Given the description of an element on the screen output the (x, y) to click on. 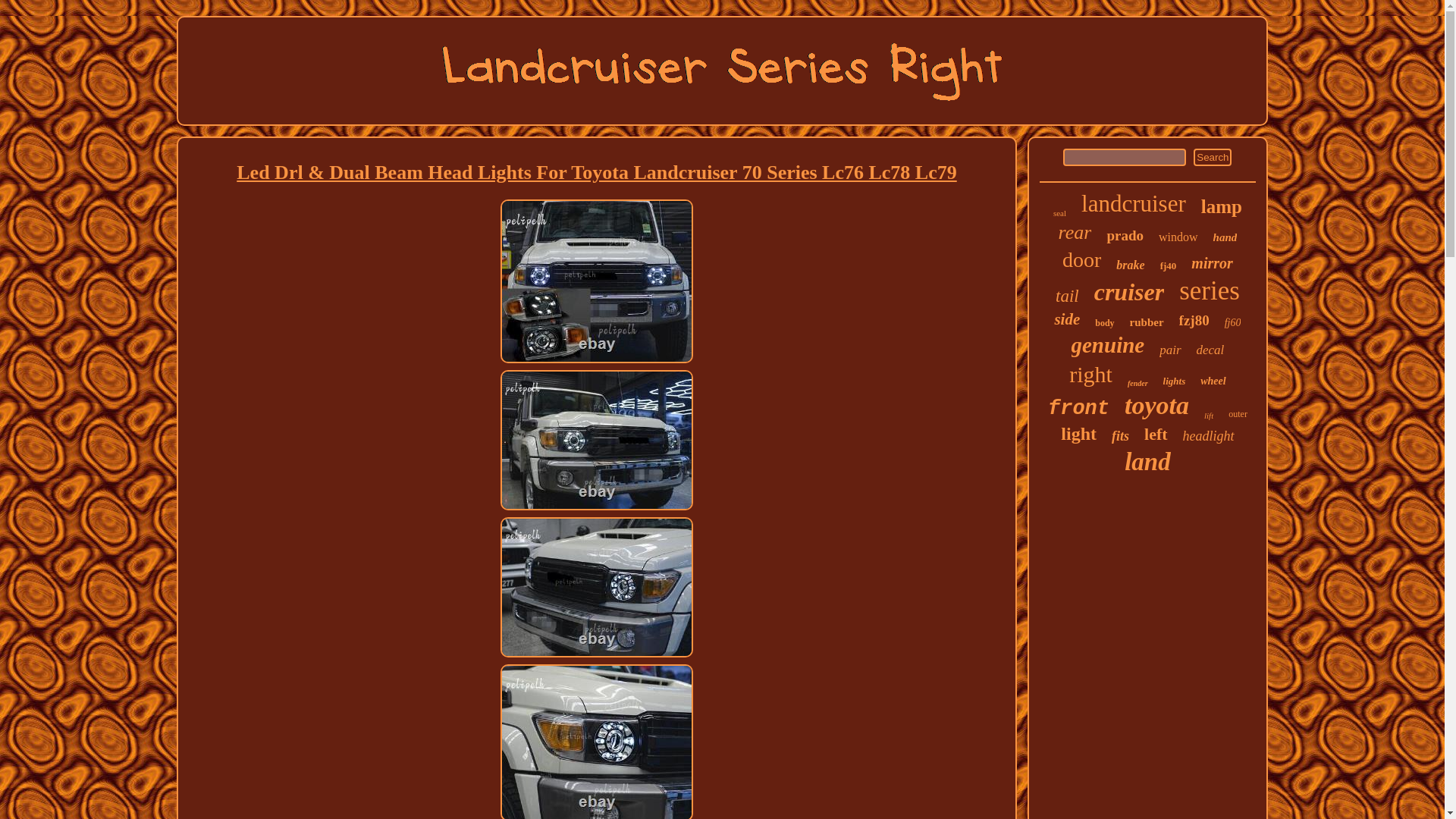
window (1178, 237)
rear (1075, 232)
Search (1212, 157)
seal (1058, 212)
tail (1066, 296)
hand (1224, 237)
Search (1212, 157)
landcruiser (1133, 203)
prado (1124, 235)
brake (1130, 264)
fj40 (1168, 265)
door (1081, 259)
mirror (1211, 262)
lamp (1221, 206)
